Given the description of an element on the screen output the (x, y) to click on. 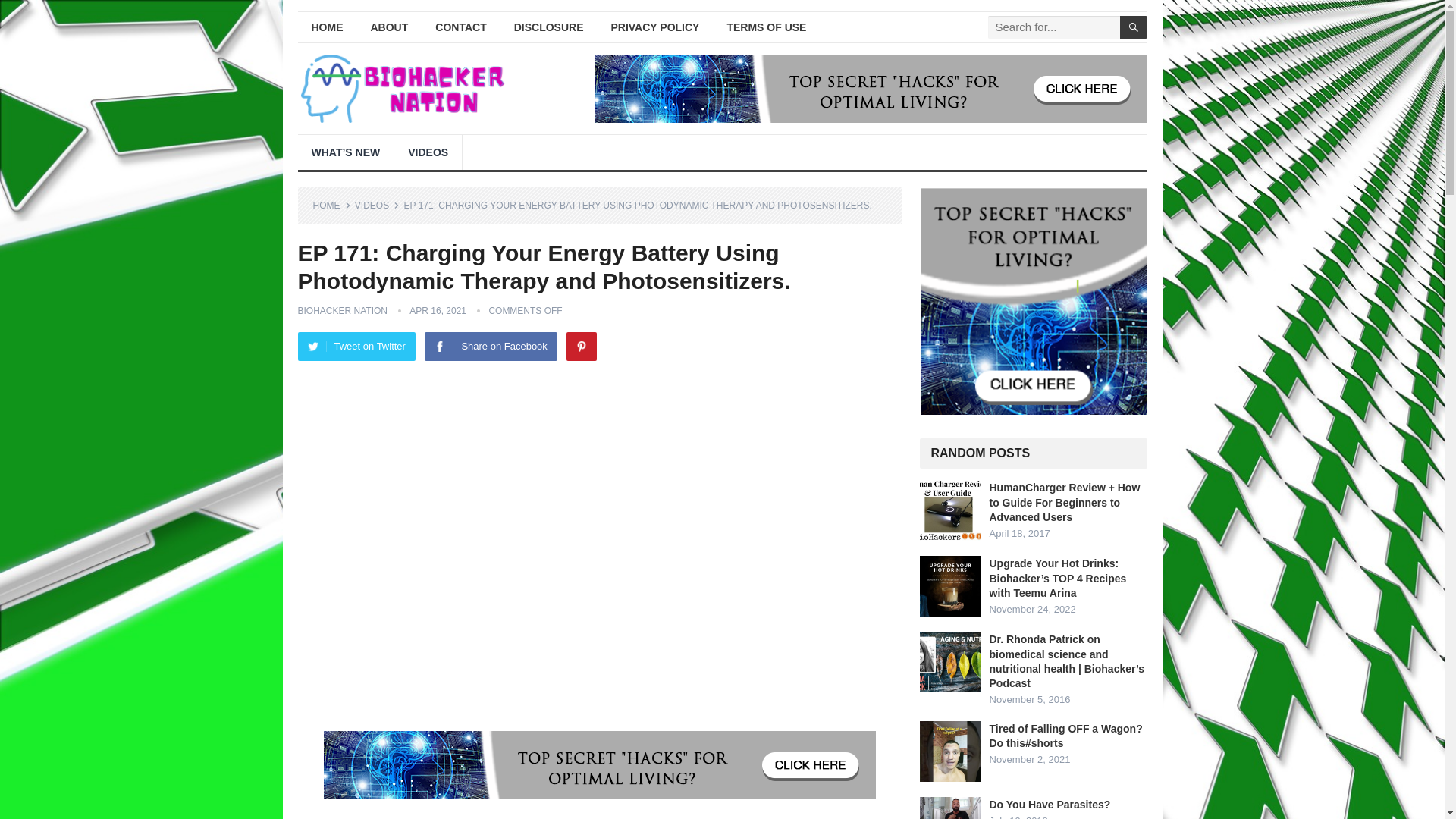
HOME (331, 204)
CONTACT (460, 27)
Do You Have Parasites? 17 (948, 807)
Tweet on Twitter (355, 346)
VIDEOS (427, 152)
VIDEOS (376, 204)
Posts by Biohacker nation (342, 310)
View all posts in Videos (376, 204)
ABOUT (389, 27)
